Given the description of an element on the screen output the (x, y) to click on. 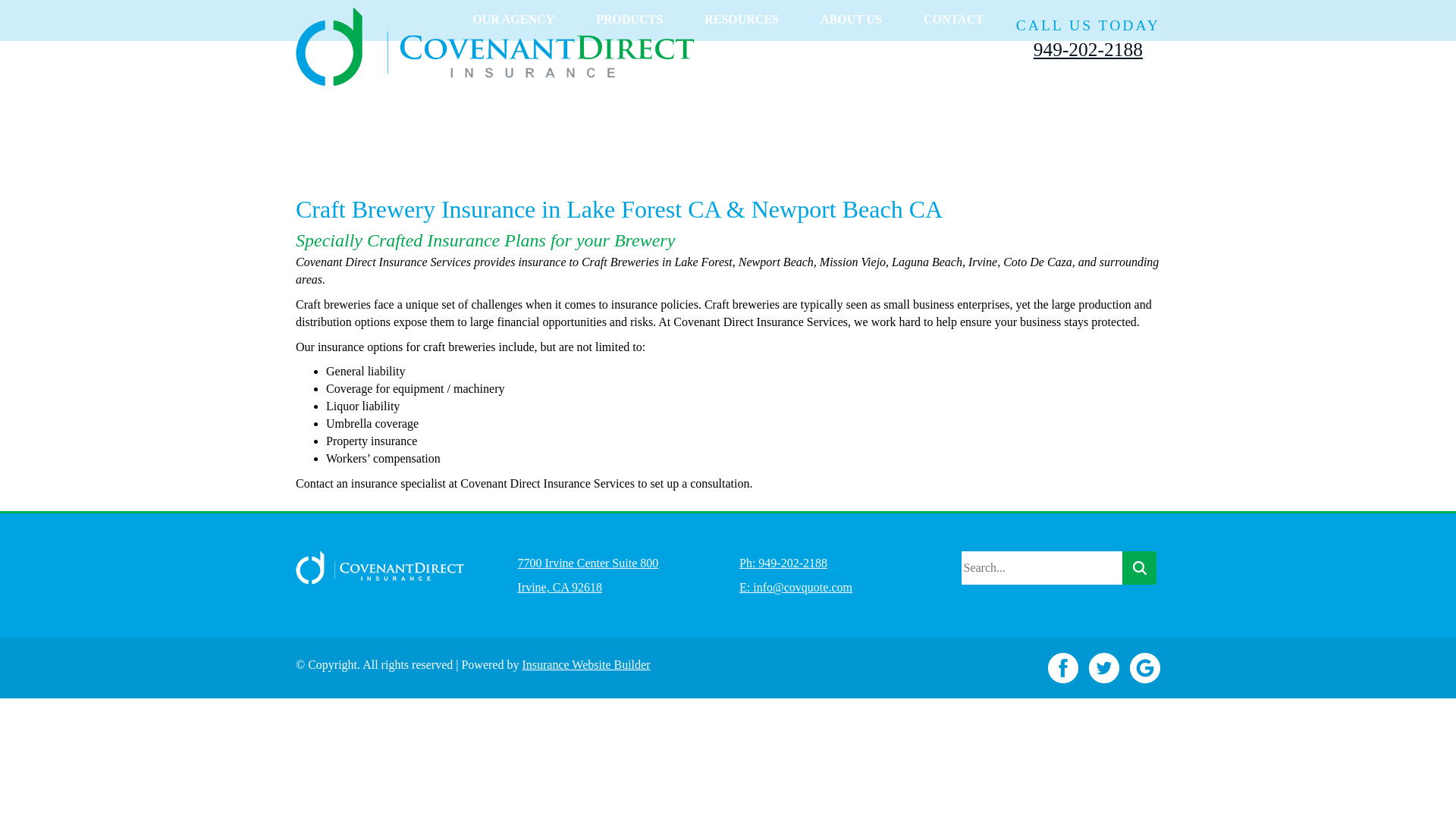
949-202-2188 (1088, 49)
OUR AGENCY (512, 18)
